Given the description of an element on the screen output the (x, y) to click on. 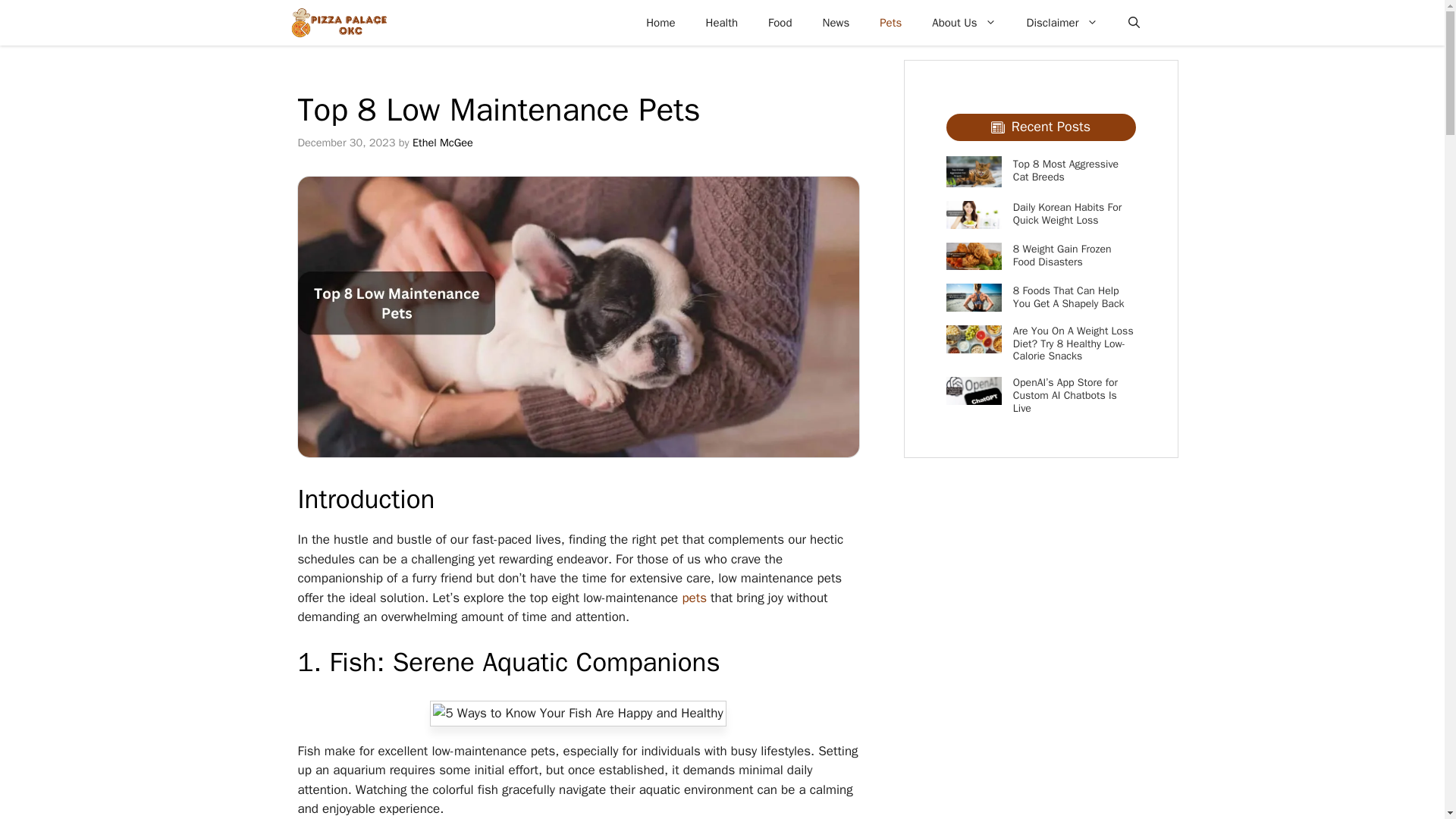
Ethel McGee (442, 142)
News (836, 22)
View all posts by Ethel McGee (442, 142)
Pizza Palace OKC (338, 22)
Pets (890, 22)
Health (722, 22)
Home (660, 22)
Food (779, 22)
Top 8 Most Aggressive Cat Breeds (1065, 170)
About Us (963, 22)
8 Foods That Can Help You Get A Shapely Back (1068, 297)
Disclaimer (1062, 22)
Daily Korean Habits For Quick Weight Loss (1067, 213)
pets (693, 597)
